Given the description of an element on the screen output the (x, y) to click on. 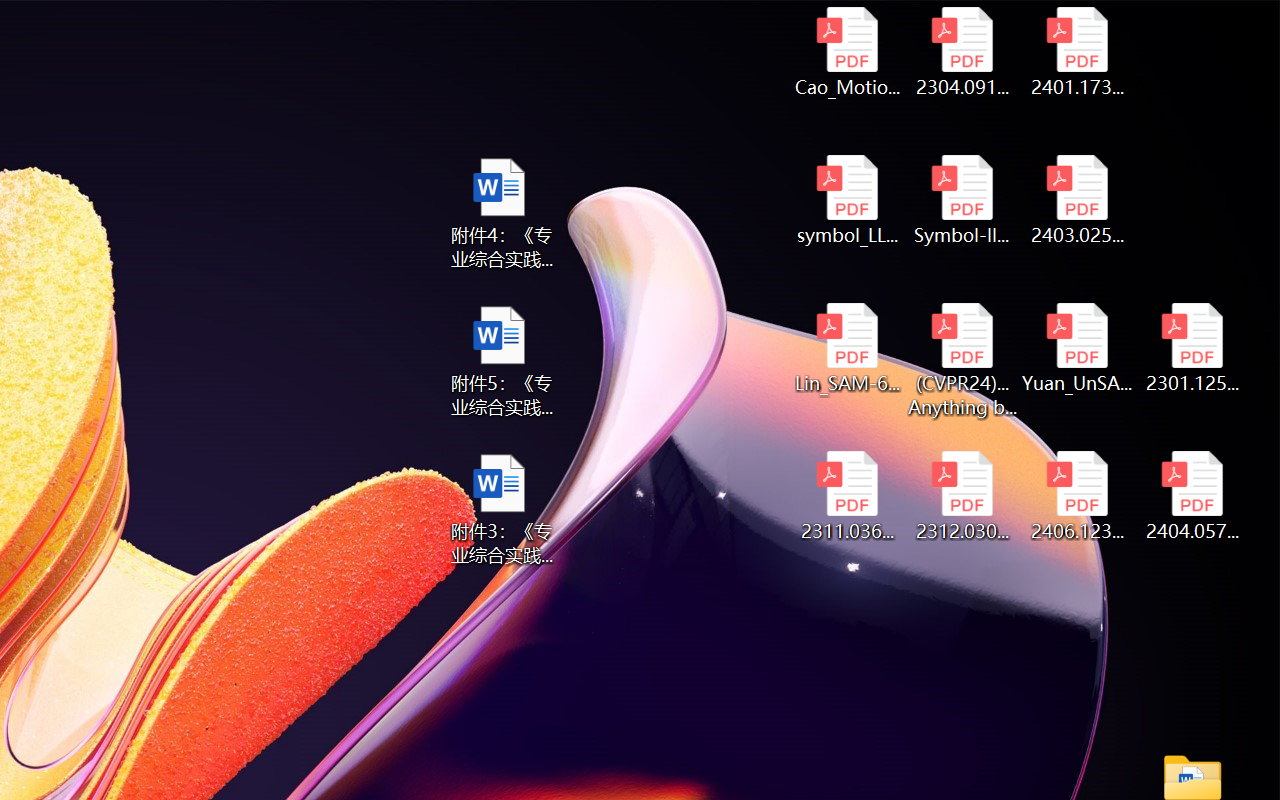
Settings - System (947, 22)
Sign in - Google Accounts (207, 22)
Sign in - Google Accounts (577, 22)
